Given the description of an element on the screen output the (x, y) to click on. 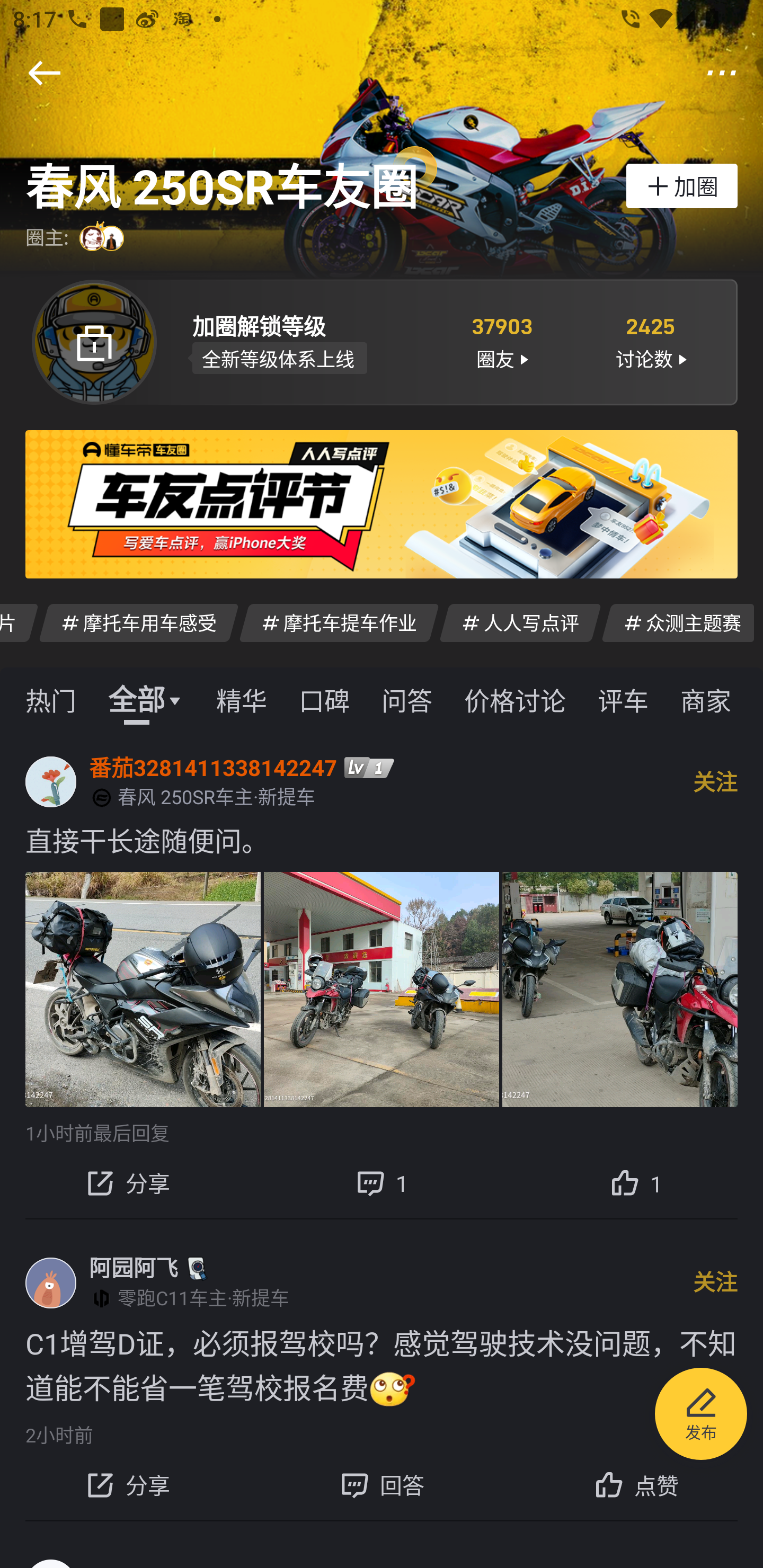
 (44, 72)
 (721, 72)
圈主: (76, 238)
加圈解锁等级 全新等级体系上线 (307, 341)
37903 圈友 (501, 341)
2425 讨论数 (650, 341)
 摩托车用车感受 (138, 622)
 摩托车提车作业 (338, 622)
 人人写点评 (520, 622)
 众测主题赛 (677, 622)
热门 (50, 698)
全部  (146, 698)
精华 (241, 698)
口碑 (324, 698)
问答 (406, 698)
价格讨论 (514, 698)
评车 (622, 698)
商家 (705, 698)
番茄3281411338142247 (213, 767)
关注 (714, 781)
直接干长途随便问。 (381, 839)
 分享 (127, 1182)
 1 (381, 1182)
1 (635, 1182)
阿园阿飞 (133, 1268)
关注 (714, 1282)
C1增驾D证，必须报驾校吗？感觉驾驶技术没问题，不知道能不能省一笔驾校报名费[what] (381, 1365)
 发布 (701, 1416)
 分享 (127, 1485)
 回答 (381, 1485)
点赞 (635, 1485)
